Given the description of an element on the screen output the (x, y) to click on. 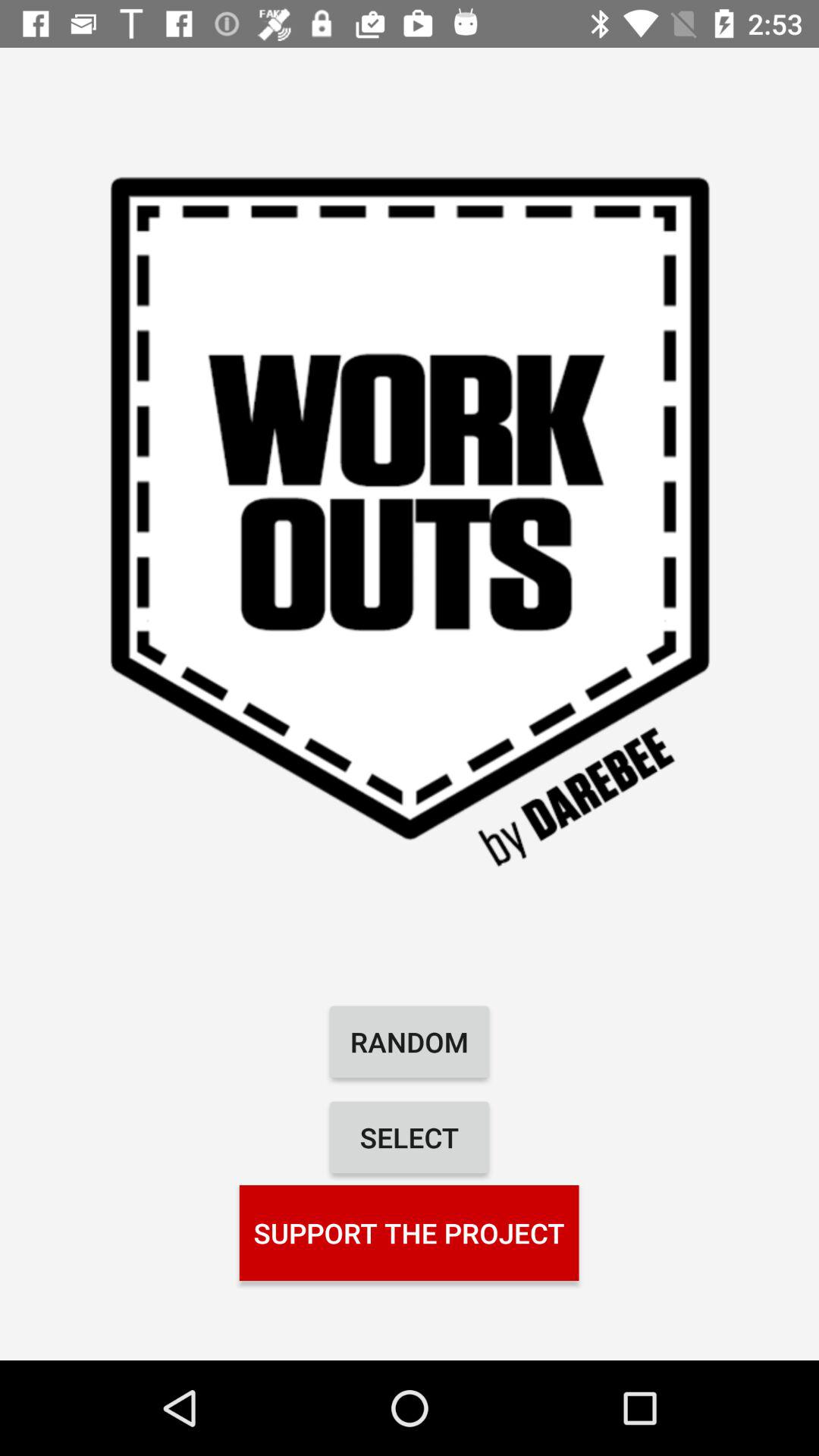
turn on the icon above the select (409, 1041)
